Given the description of an element on the screen output the (x, y) to click on. 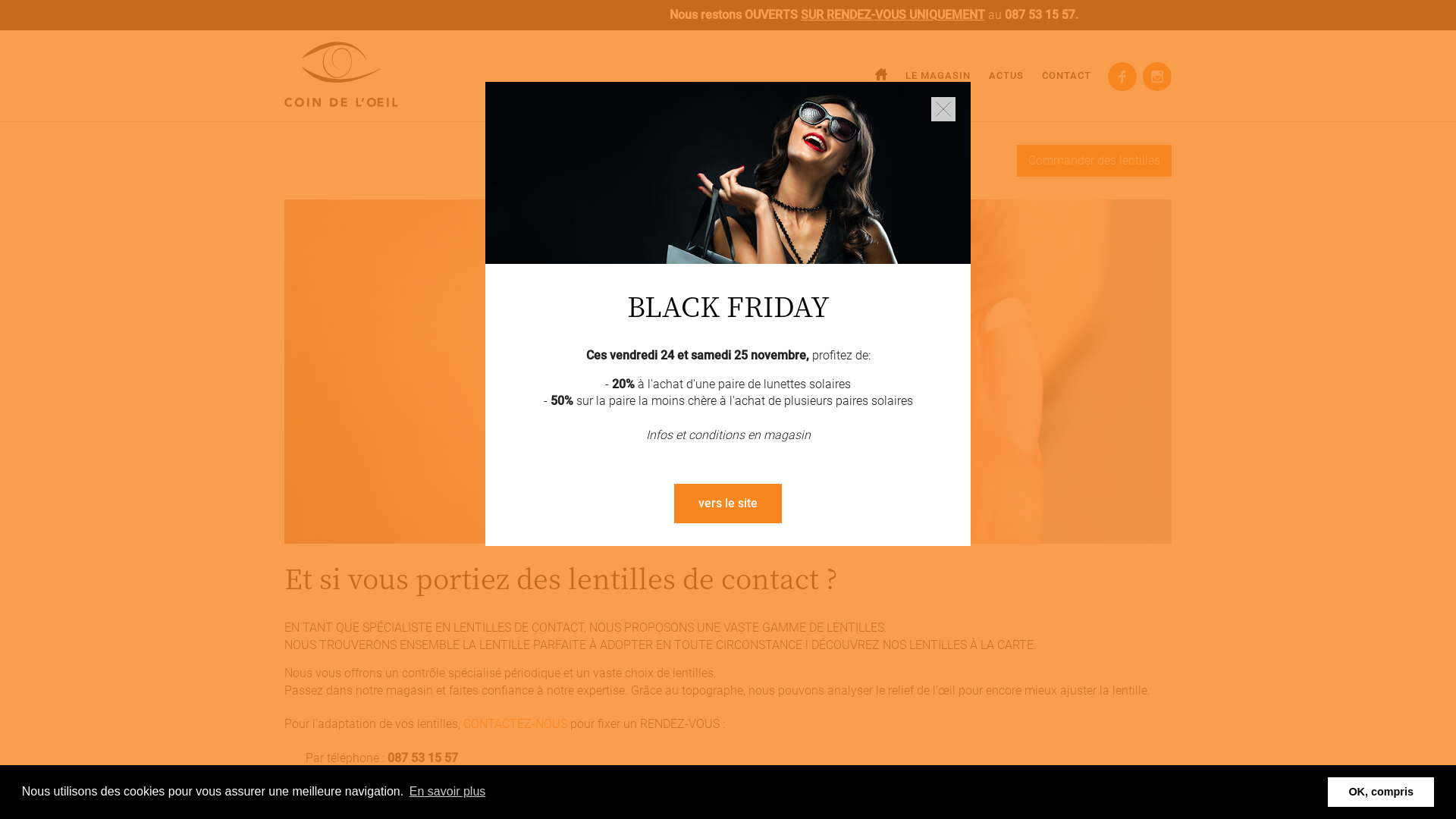
OK, compris Element type: text (1380, 791)
SUR RENDEZ-VOUS UNIQUEMENT Element type: text (973, 14)
CONTACTEZ-NOUS Element type: text (515, 723)
Aller au contenu principal Element type: text (67, 0)
CONTACT Element type: text (1066, 75)
coindeloeil@skynet.be Element type: text (424, 775)
Instagram Element type: text (1156, 76)
vers le site Element type: text (727, 503)
ACCUEIL Element type: text (881, 75)
vind ons op facebook Element type: text (1121, 76)
Du Coin de l'Oeil Element type: text (341, 74)
ACTUS Element type: text (1005, 75)
En savoir plus Element type: text (447, 791)
Commander des lentilles Element type: text (1093, 160)
LE MAGASIN Element type: text (937, 75)
